Given the description of an element on the screen output the (x, y) to click on. 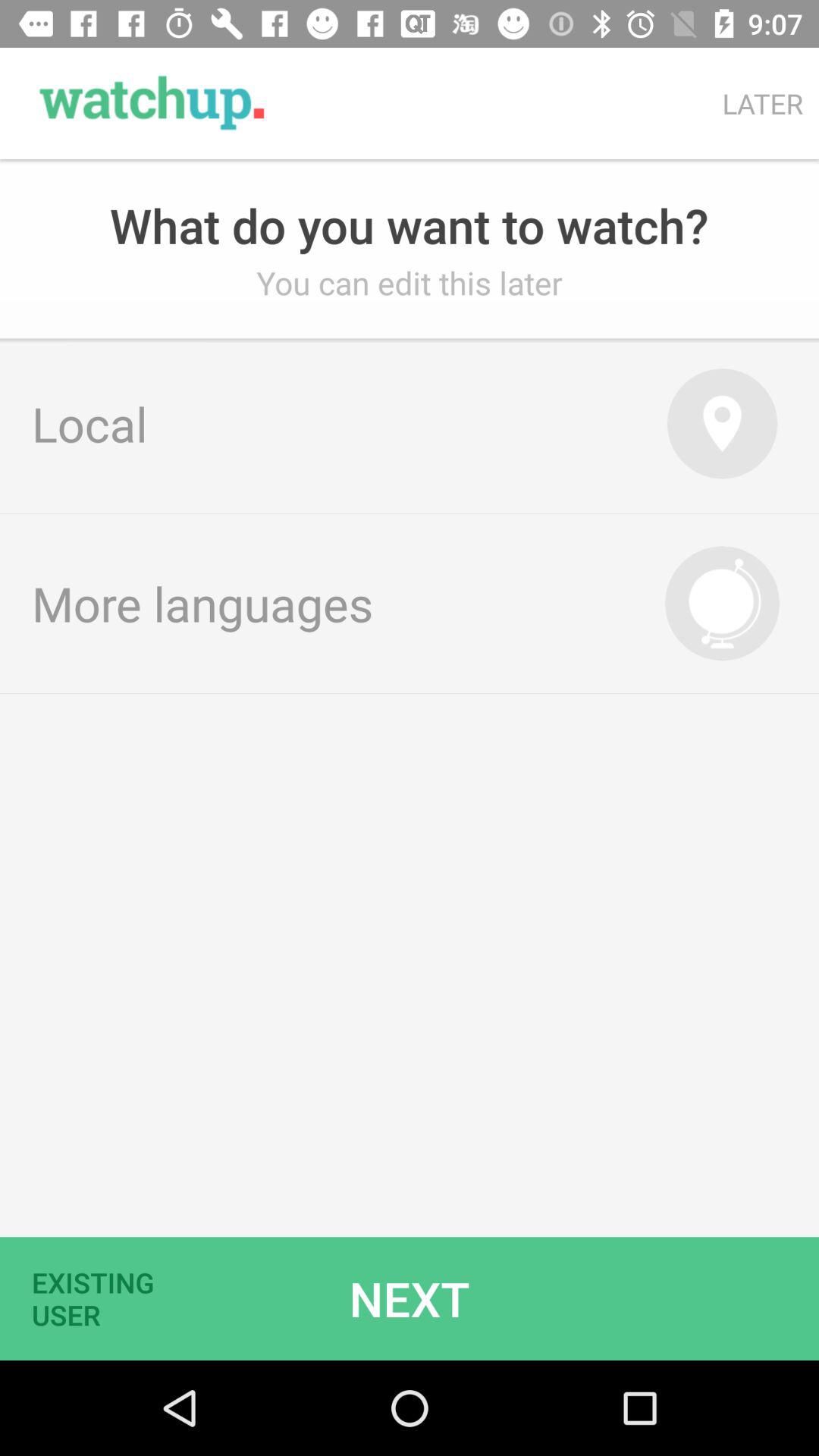
launch the icon to the right of existing
user item (409, 1298)
